Given the description of an element on the screen output the (x, y) to click on. 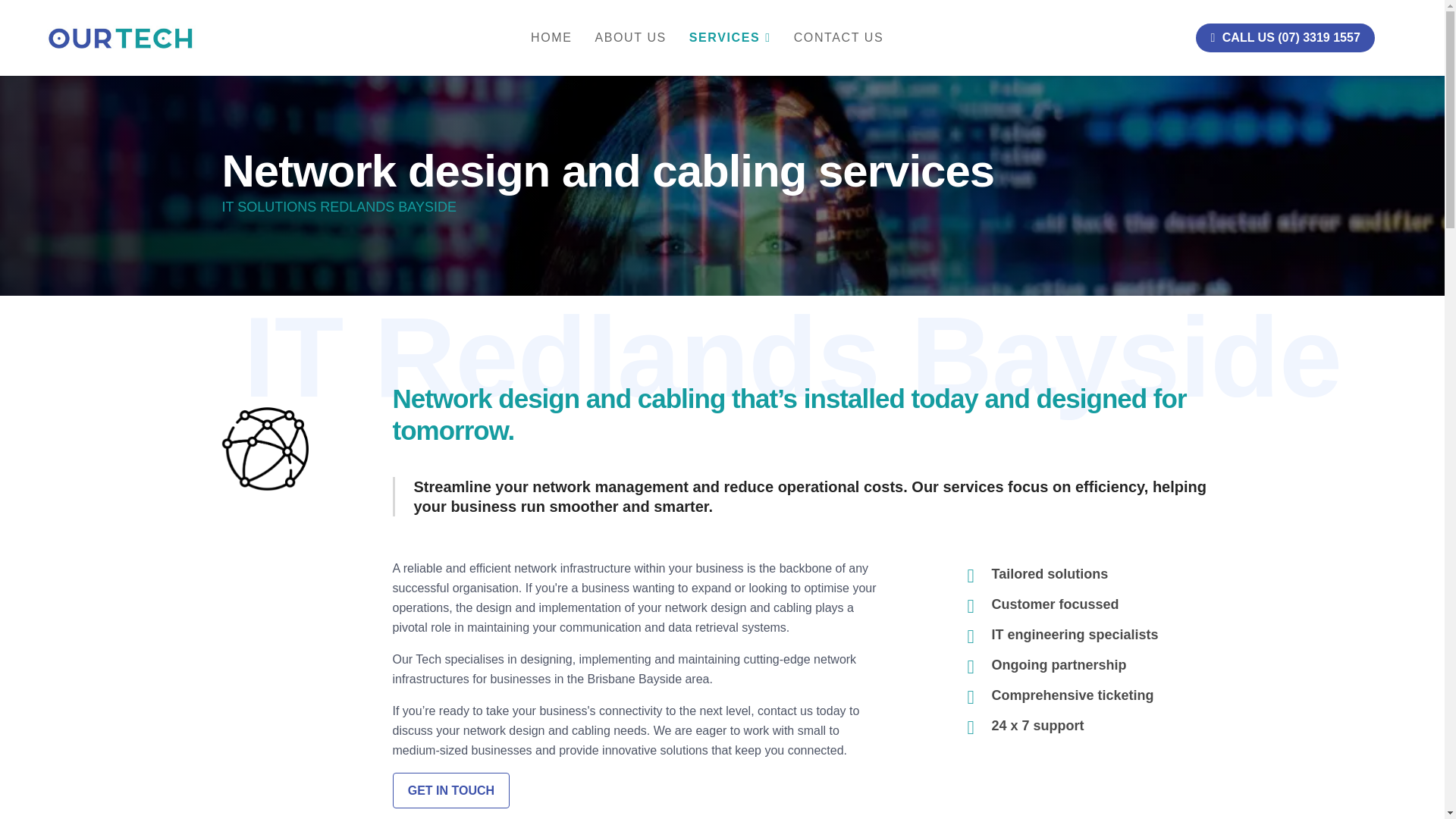
ABOUT US (630, 38)
SERVICES (730, 38)
CONTACT US (833, 38)
GET IN TOUCH (452, 790)
